Given the description of an element on the screen output the (x, y) to click on. 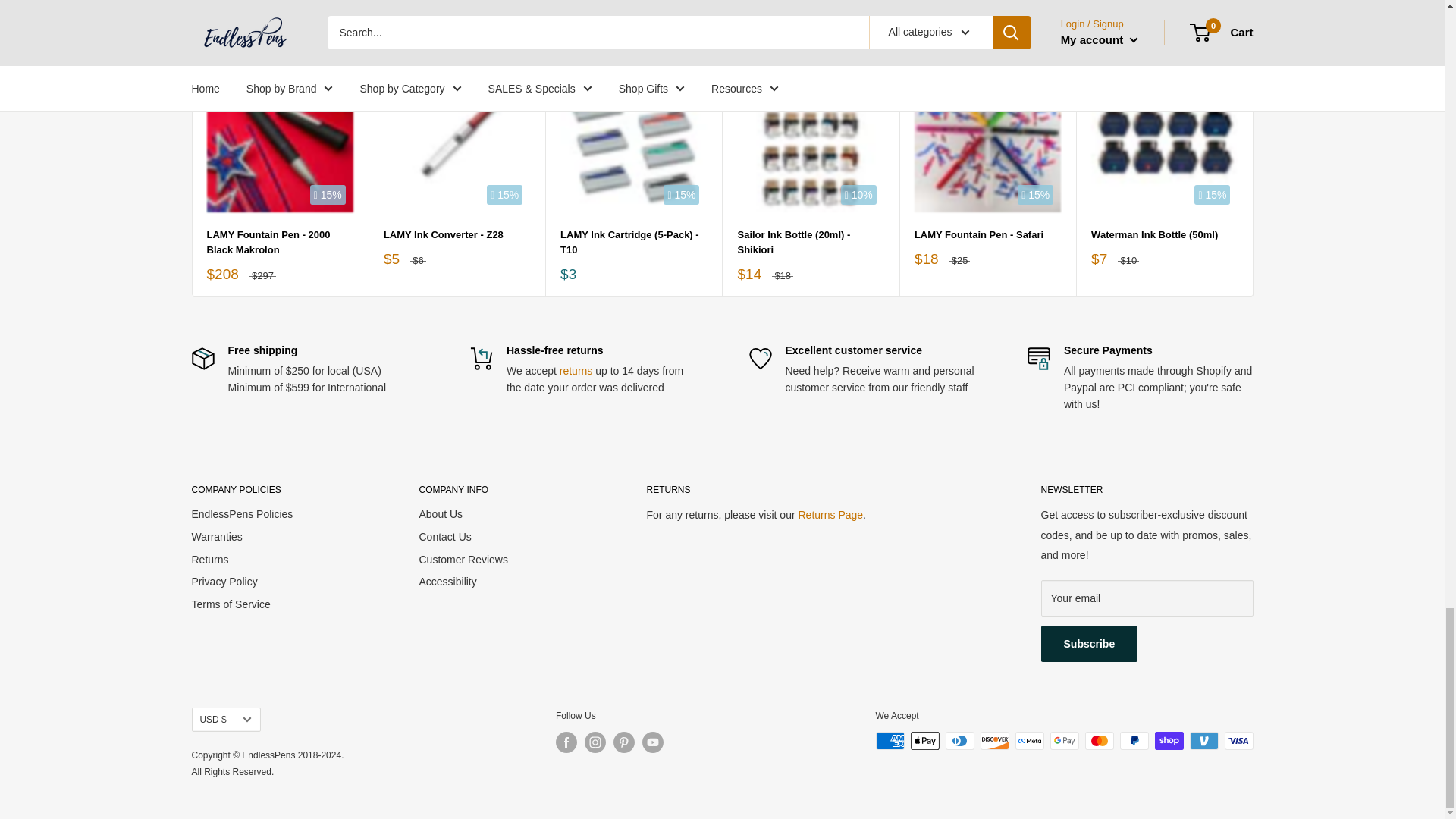
Returns (575, 370)
Returns (830, 514)
